Given the description of an element on the screen output the (x, y) to click on. 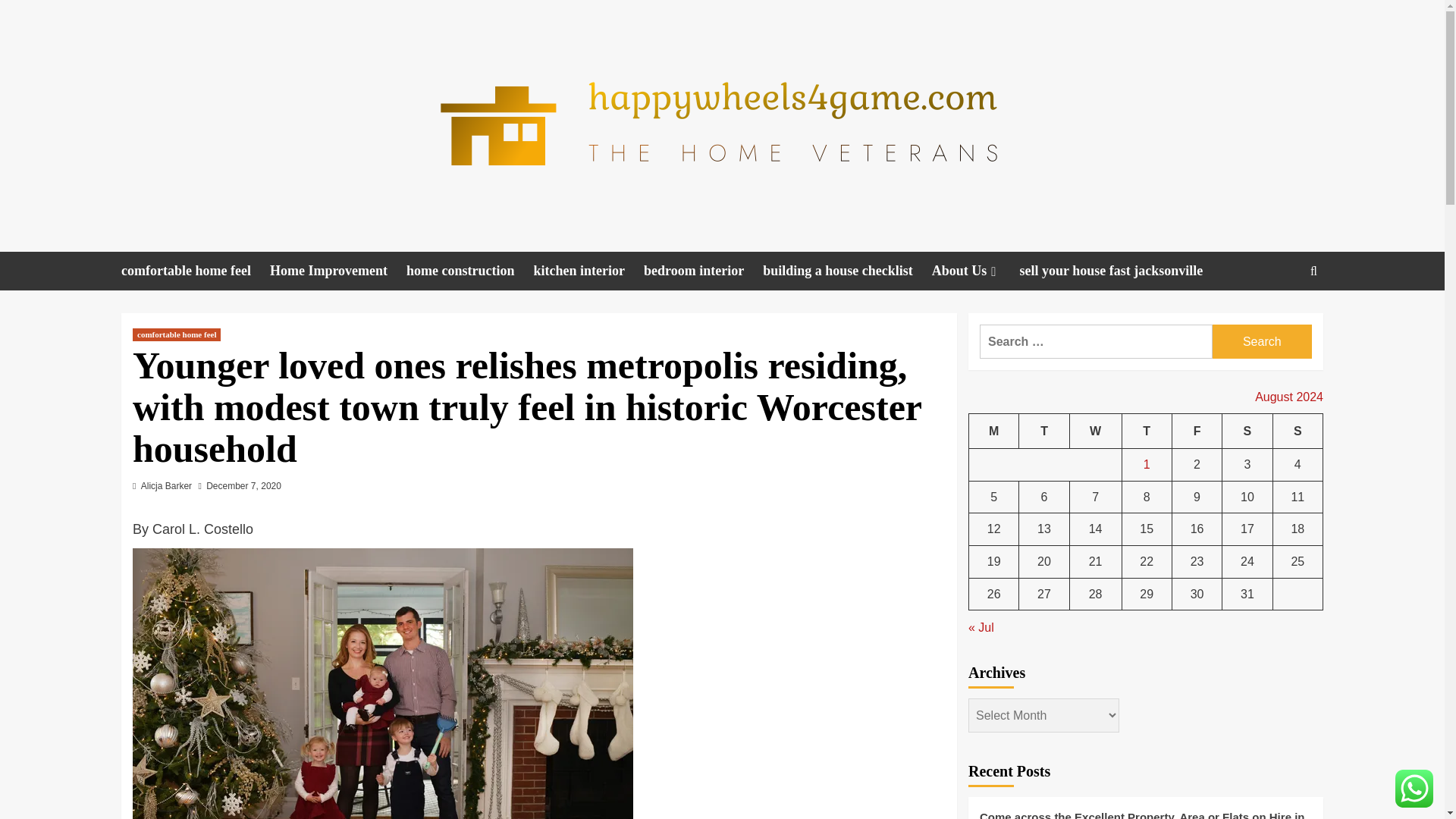
home construction (470, 270)
Friday (1196, 430)
comfortable home feel (194, 270)
Wednesday (1094, 430)
Search (1278, 317)
Saturday (1247, 430)
Thursday (1146, 430)
comfortable home feel (176, 334)
kitchen interior (588, 270)
sell your house fast jacksonville (1121, 270)
About Us (975, 270)
Search (1261, 341)
Sunday (1297, 430)
Alicja Barker (166, 485)
building a house checklist (846, 270)
